Given the description of an element on the screen output the (x, y) to click on. 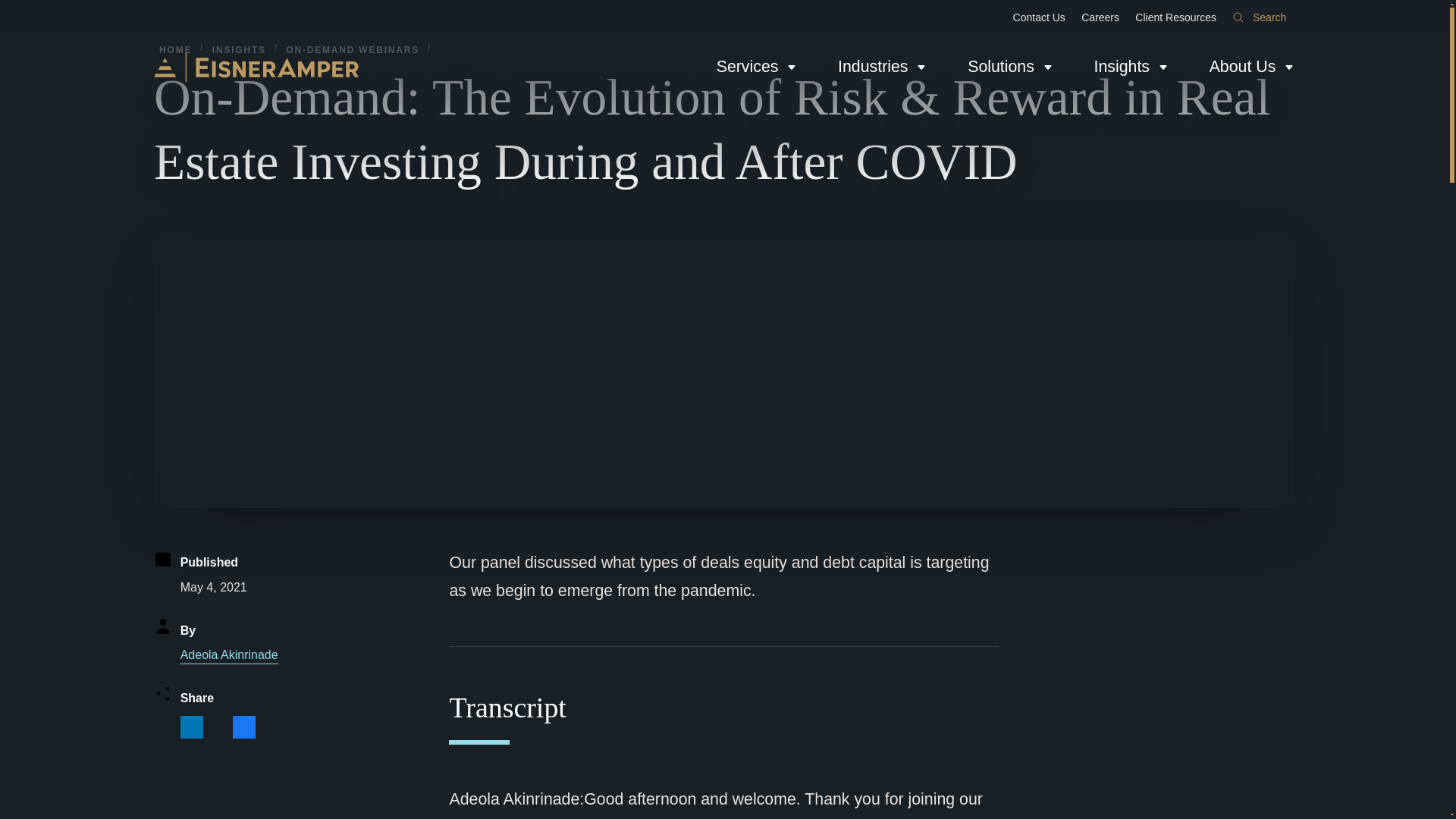
Client Resources (1175, 17)
Contact Us (1039, 17)
Search (1259, 17)
Services (756, 67)
Skip to content (12, 6)
EisnerAmper Home (256, 67)
Careers (1100, 17)
